Given the description of an element on the screen output the (x, y) to click on. 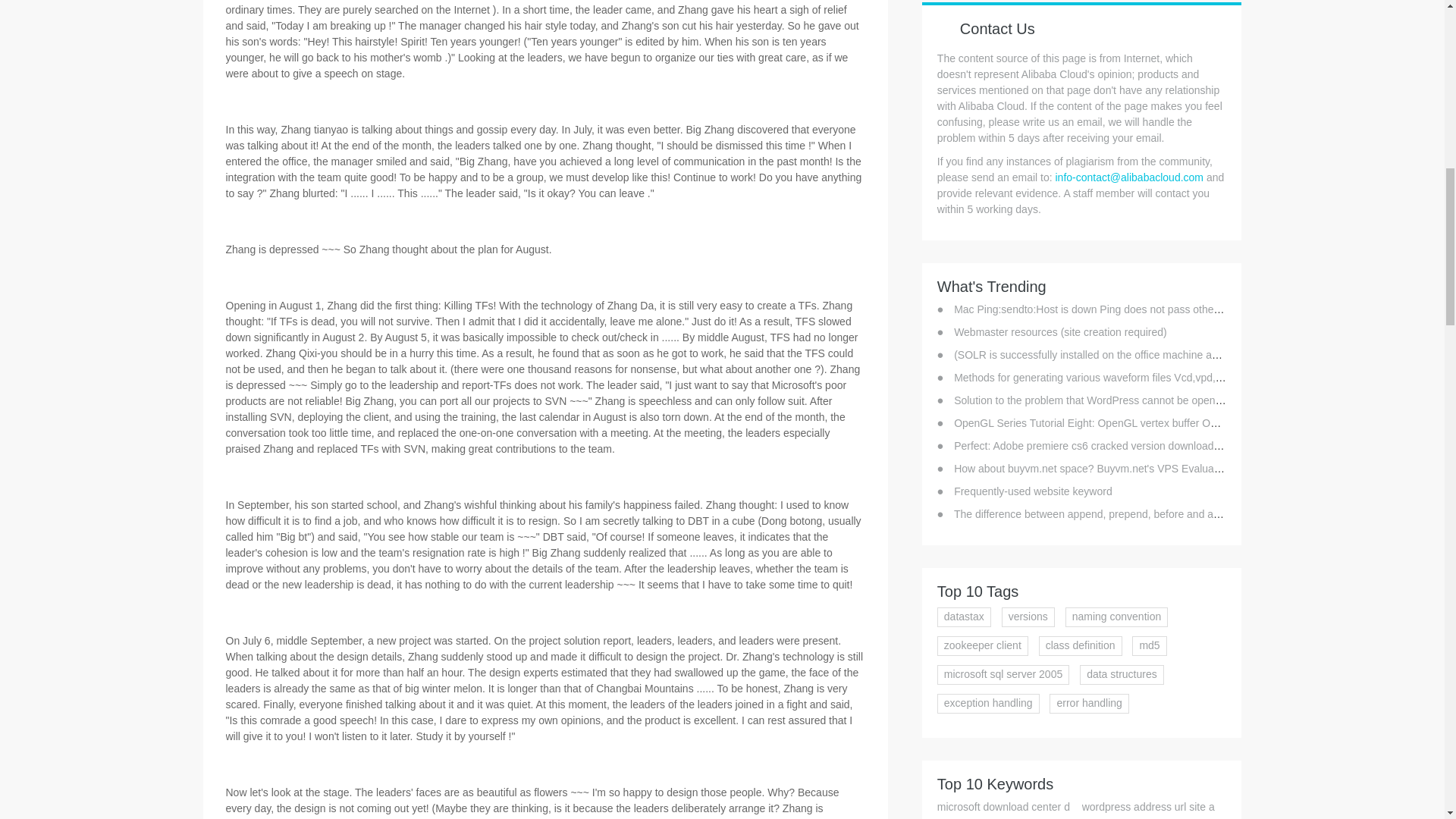
data structures (1121, 674)
error handling (1088, 703)
How about buyvm.net space? Buyvm.net's VPS Evaluation (1091, 468)
Frequently-used website keyword (1032, 491)
naming convention (1117, 617)
microsoft sql server 2005 (1002, 674)
datastax (964, 617)
md5 (1149, 646)
